Given the description of an element on the screen output the (x, y) to click on. 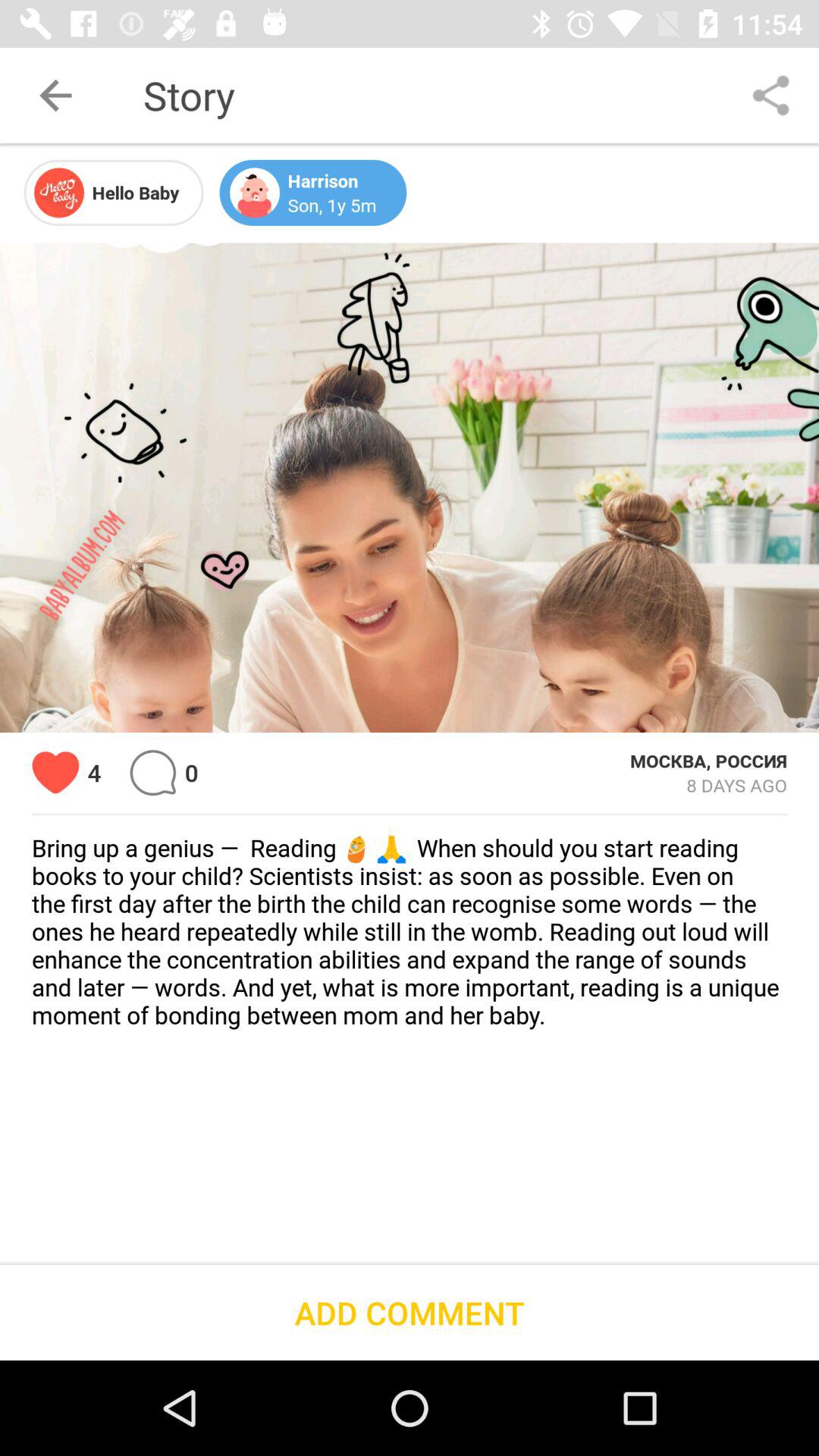
view comments (152, 772)
